Given the description of an element on the screen output the (x, y) to click on. 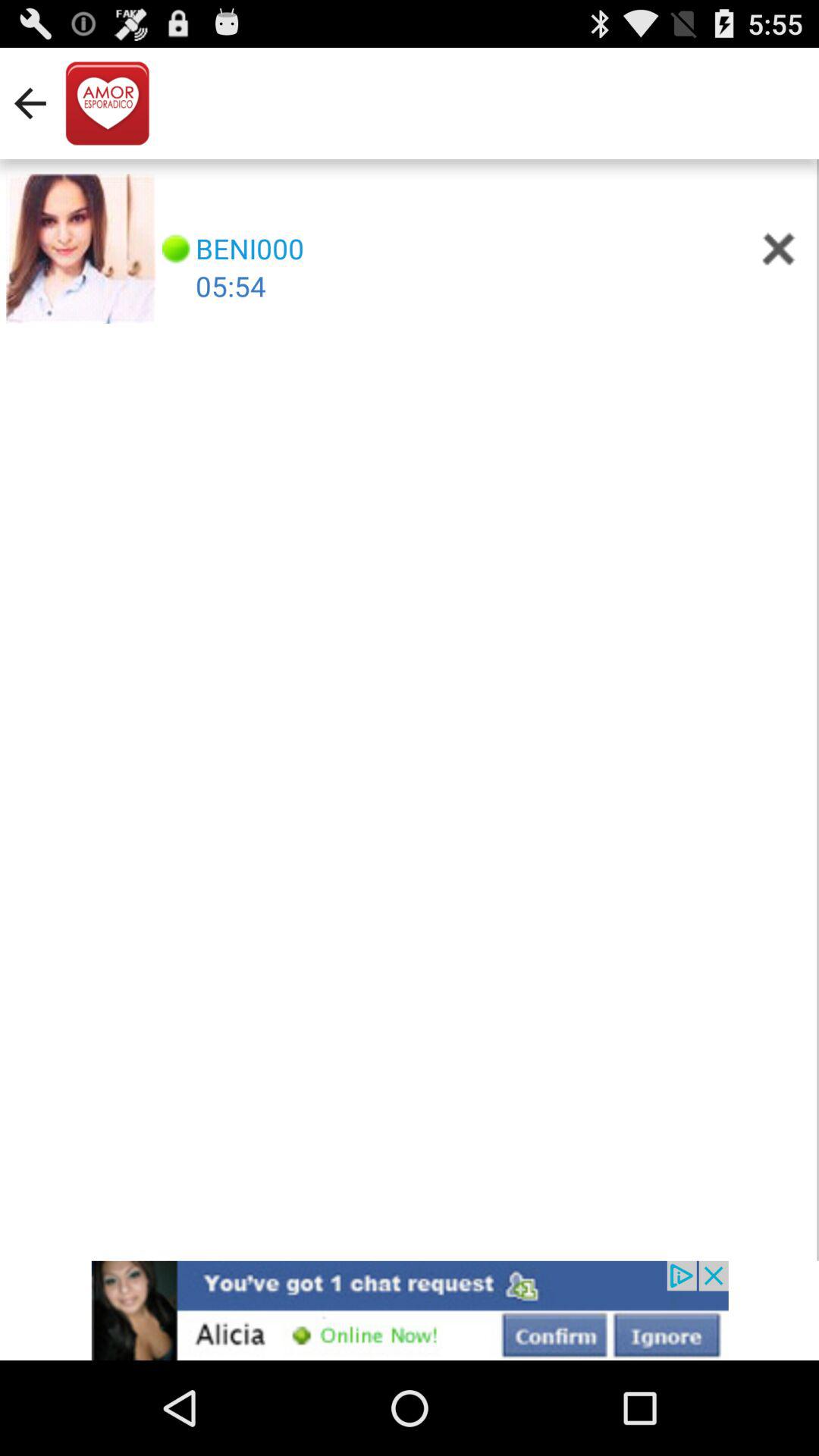
delete message (778, 248)
